Given the description of an element on the screen output the (x, y) to click on. 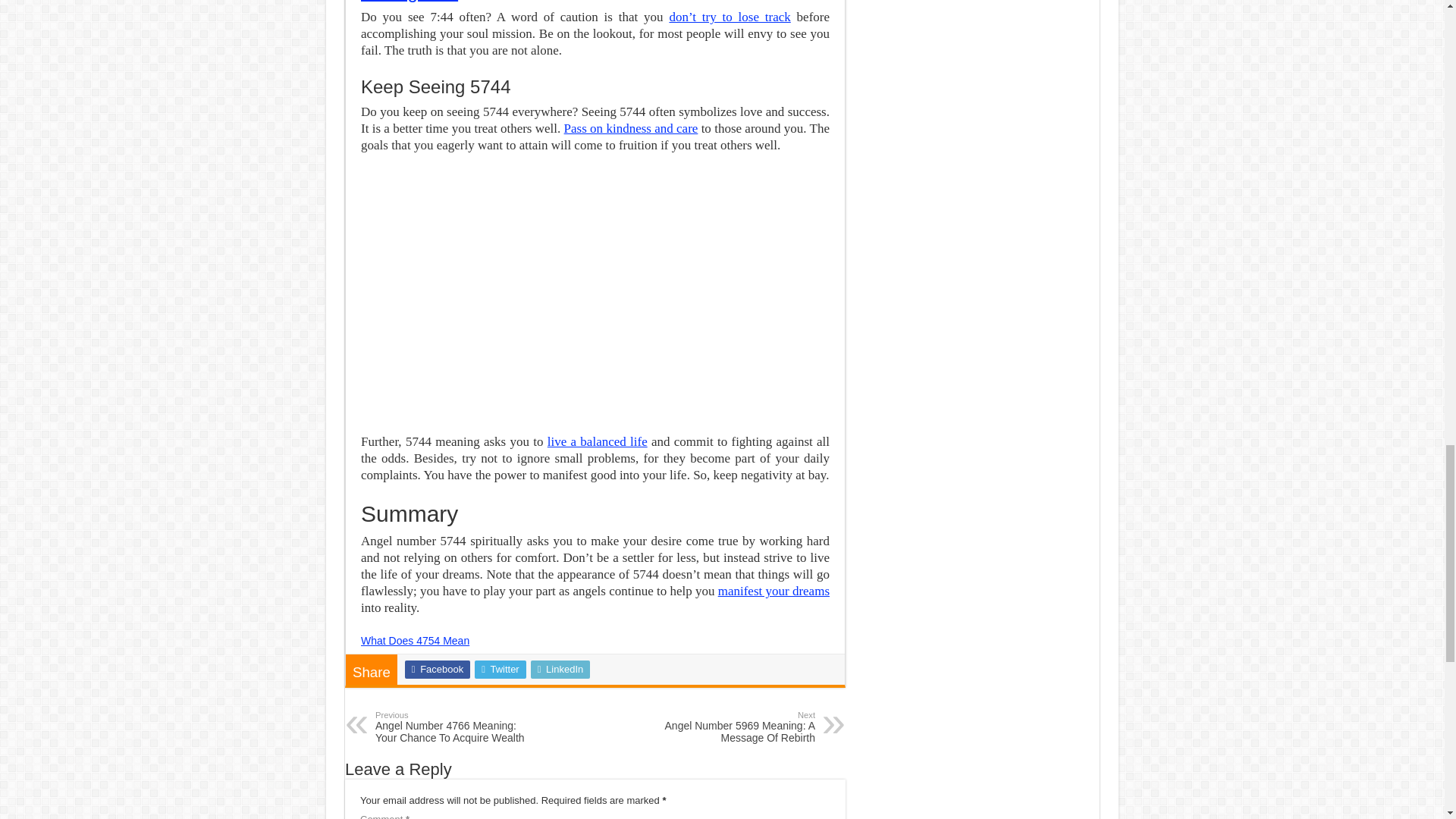
What Does 4754 Mean (414, 640)
Pass on kindness and care (631, 128)
Seeing 7:44 (409, 1)
